Given the description of an element on the screen output the (x, y) to click on. 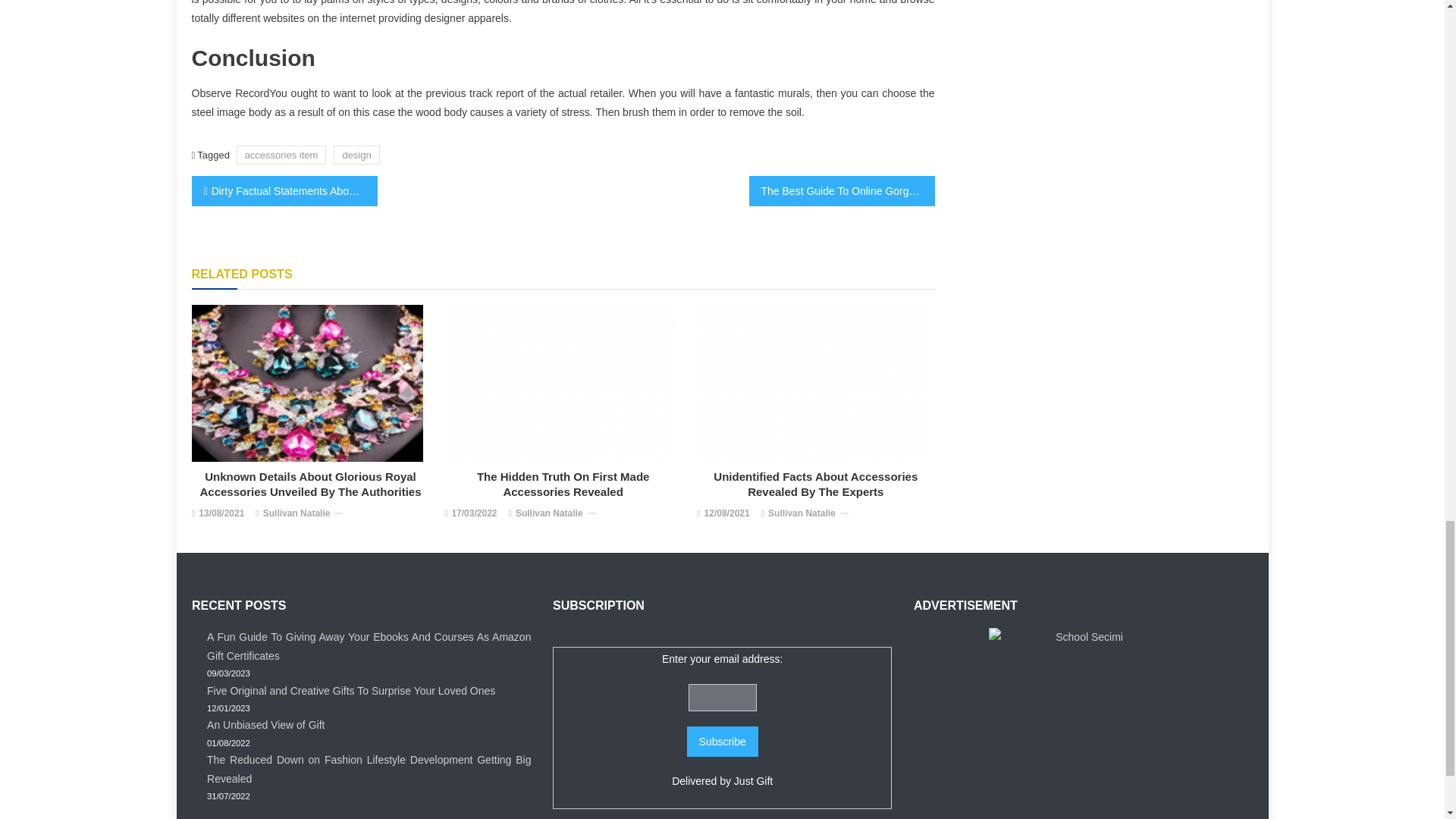
Unidentified Facts About Accessories Revealed By The Experts (815, 484)
School Secimi (1082, 722)
The Best Guide To Online Gorgeous Gift Box Store (841, 191)
Sullivan Natalie (801, 514)
design (355, 154)
accessories item (280, 154)
The Hidden Truth On First Made Accessories Revealed (562, 484)
The Hidden Truth on First Made Accessories Revealed 4 (559, 382)
